Given the description of an element on the screen output the (x, y) to click on. 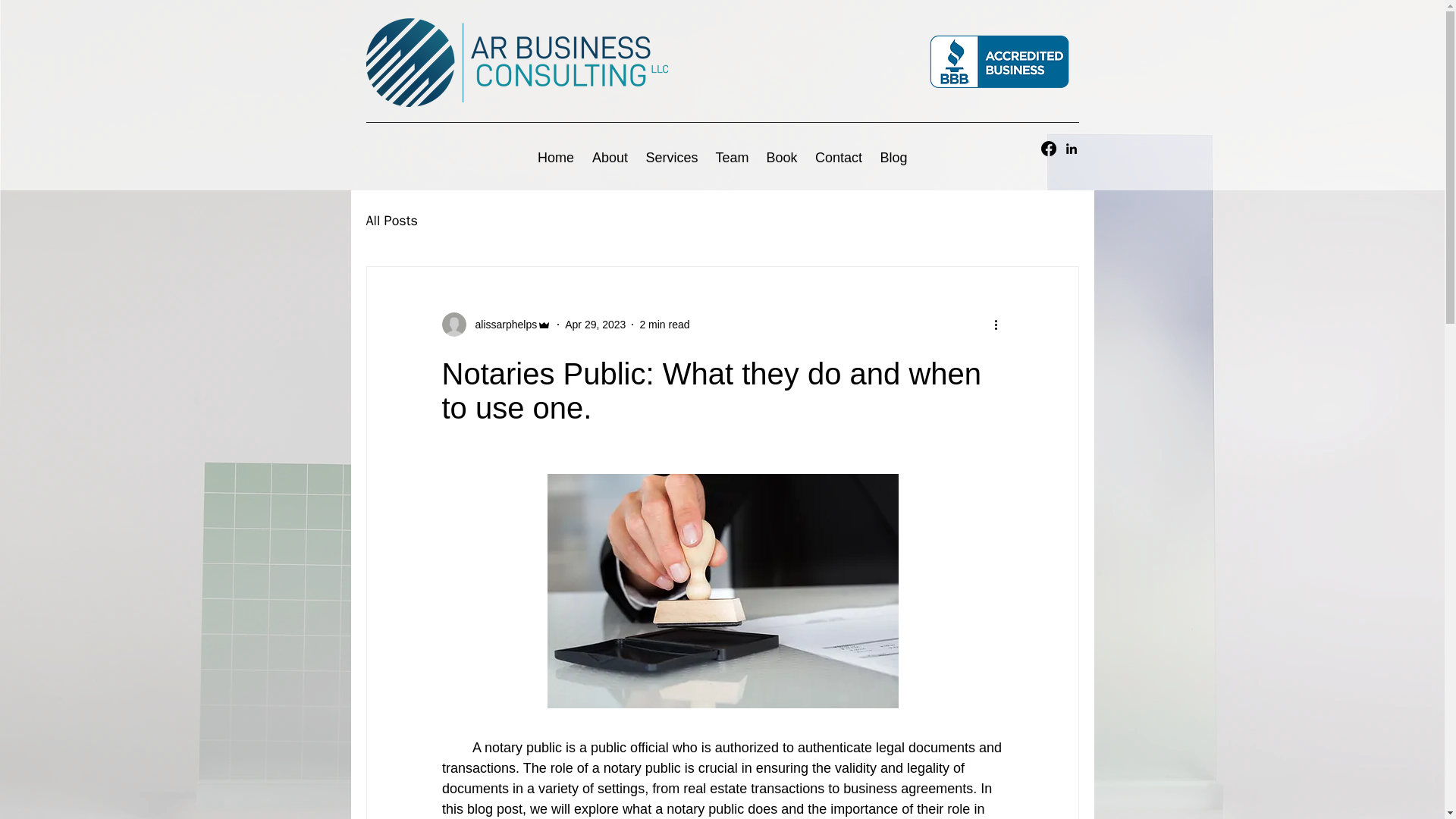
Blog (892, 157)
All Posts (390, 220)
BBB-Logo.png (999, 62)
2 min read (663, 324)
Team (731, 157)
Book (781, 157)
alissarphelps (501, 324)
About (610, 157)
Contact (838, 157)
Services (671, 157)
alissarphelps (496, 324)
Home (555, 157)
Apr 29, 2023 (595, 324)
